Given the description of an element on the screen output the (x, y) to click on. 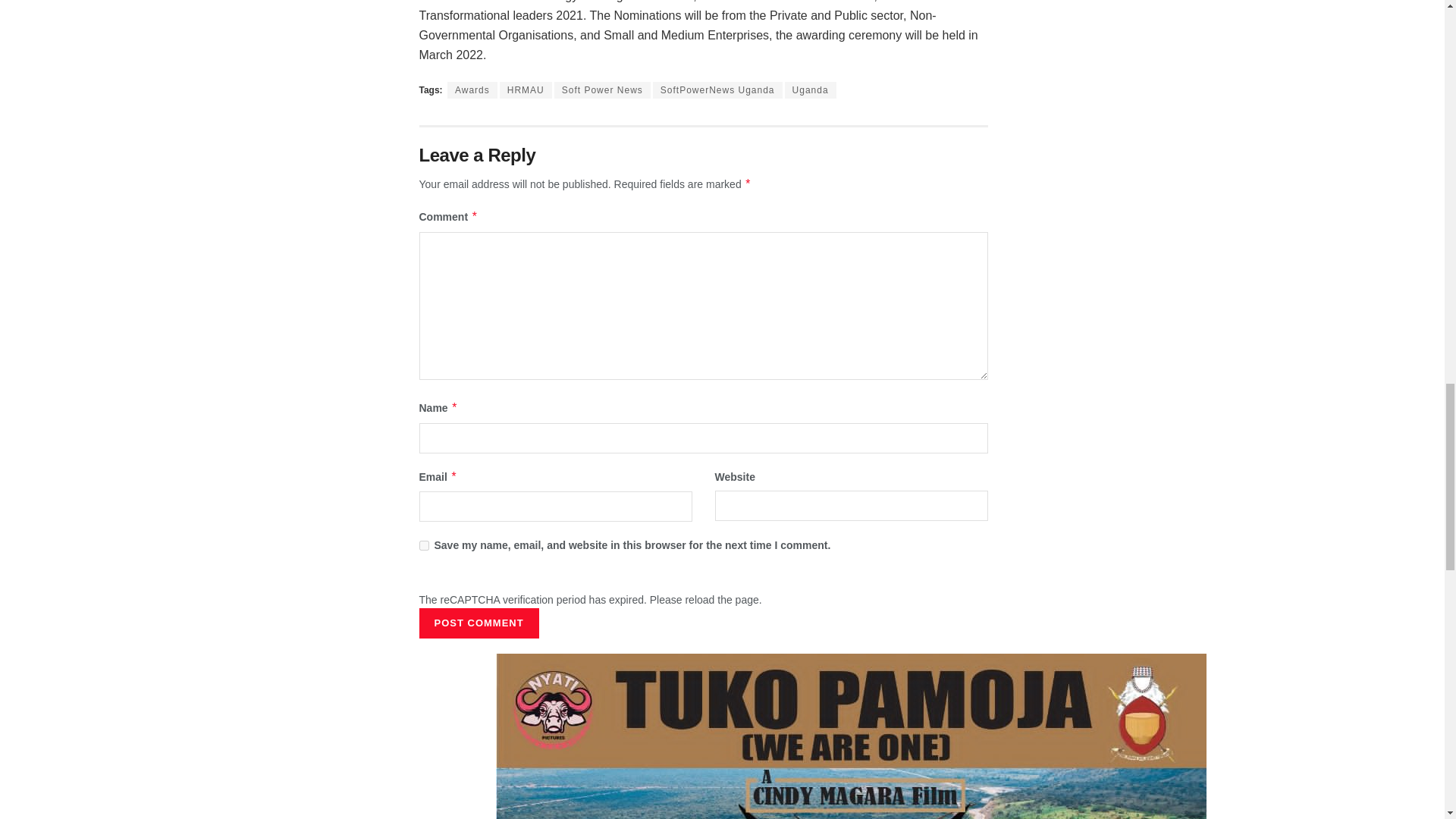
Post Comment (478, 623)
yes (423, 545)
